Given the description of an element on the screen output the (x, y) to click on. 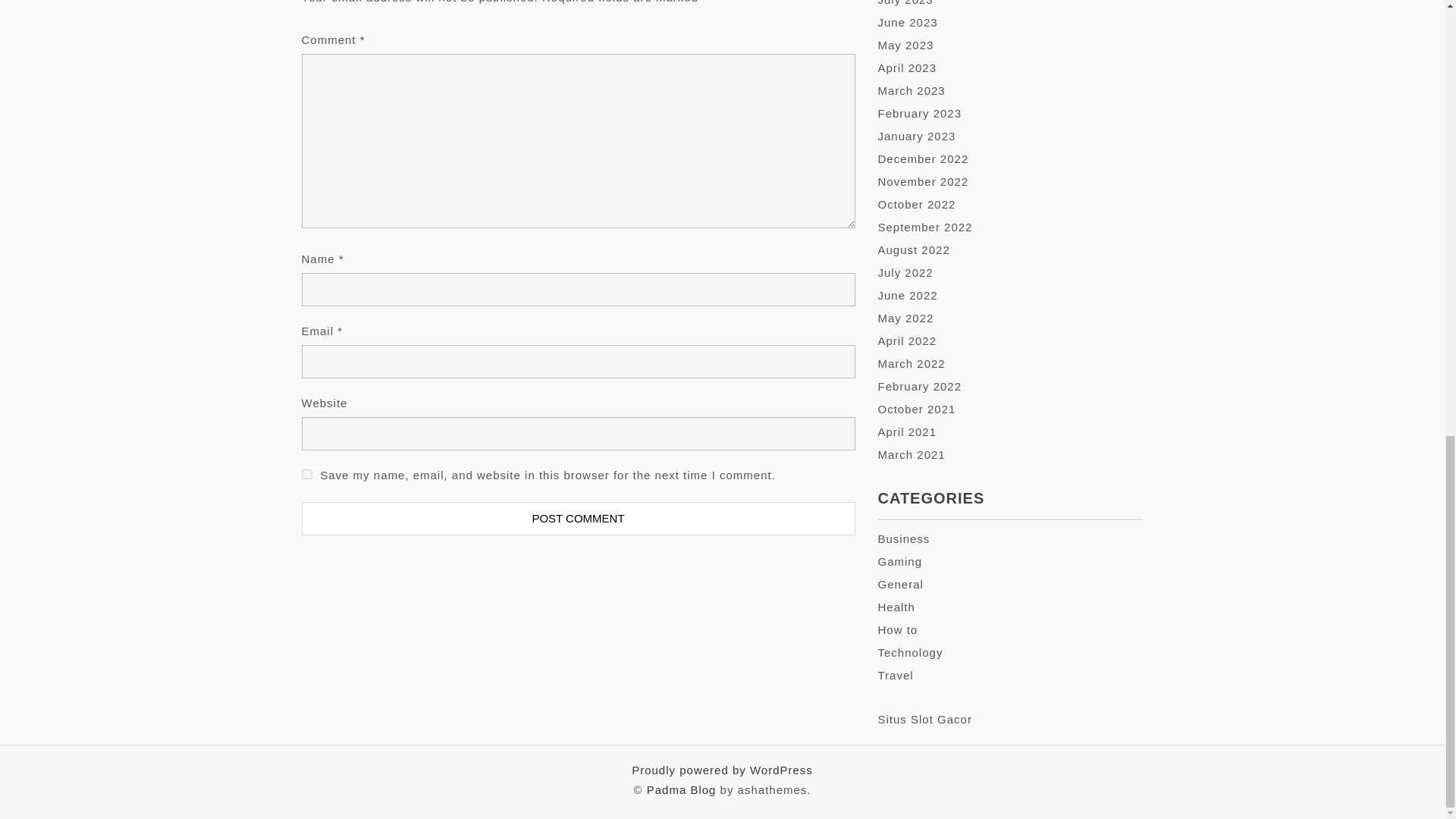
Post Comment (578, 518)
Post Comment (578, 518)
yes (307, 474)
